Given the description of an element on the screen output the (x, y) to click on. 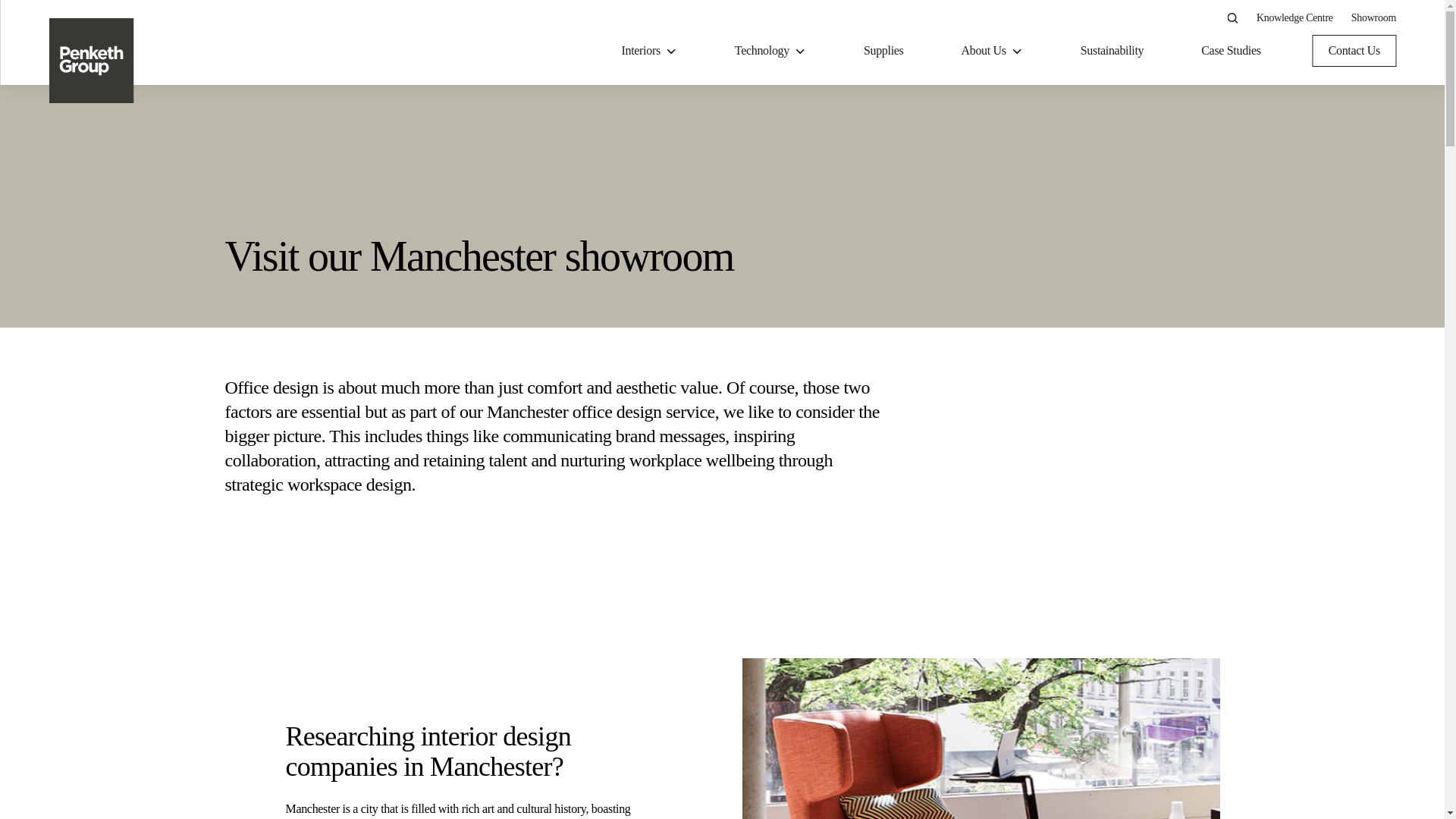
Office Furniture (1244, 135)
Boardrooms (818, 415)
Contact Us (1353, 50)
Supplies (883, 50)
Social Areas (818, 172)
Office Refurbishment (537, 202)
Office Interior Design (537, 233)
Collaborative Office Spaces (853, 293)
Office Breakout Areas (841, 233)
Video Conferencing (532, 202)
Office Sofas and Soft Seating (1161, 202)
Solutions (638, 135)
Sustainability (1112, 50)
CEO Office (816, 202)
Office Chairs (1123, 293)
